Given the description of an element on the screen output the (x, y) to click on. 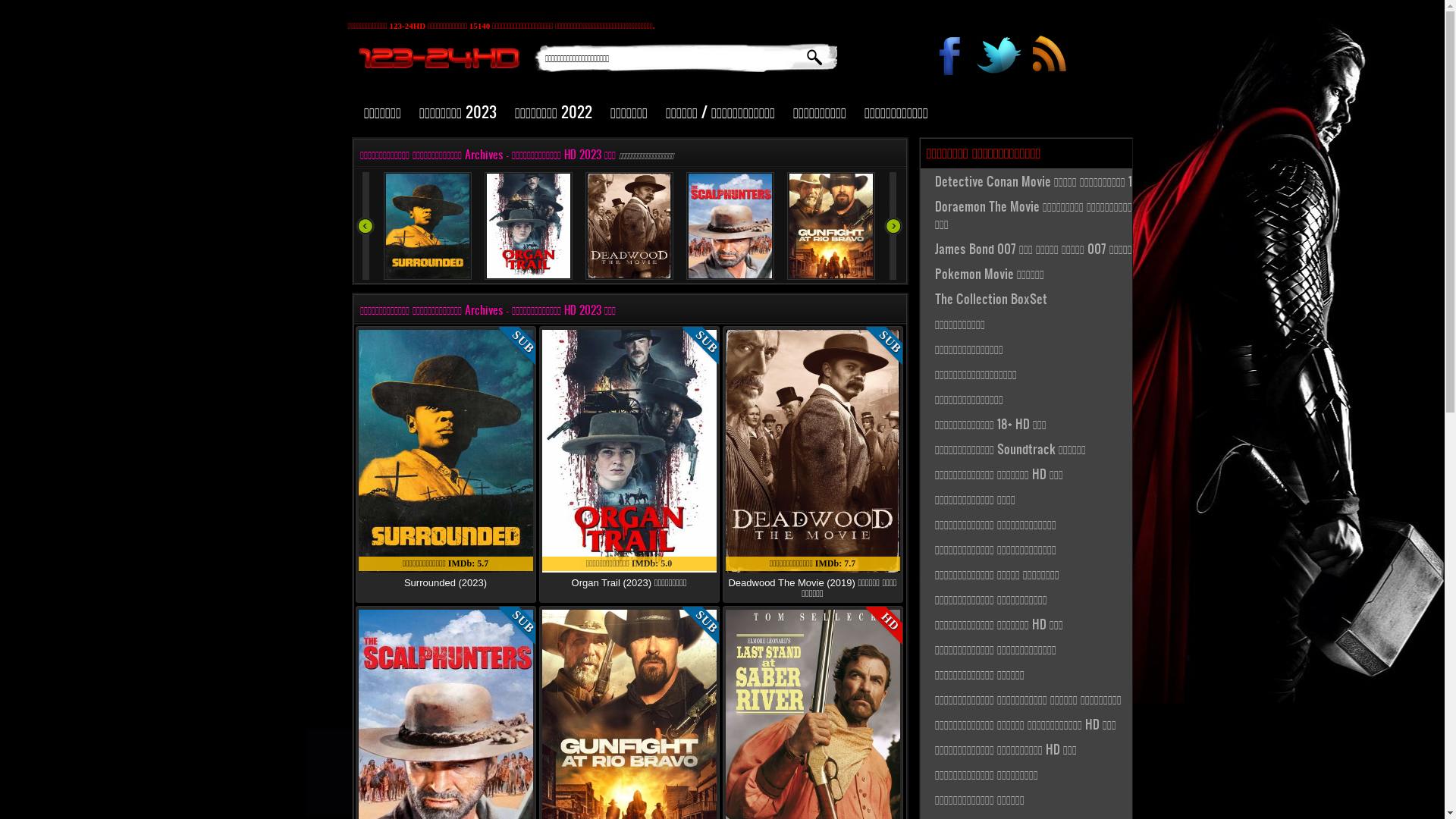
# Element type: text (1047, 58)
2 geri Element type: hover (364, 225)
# Element type: text (950, 58)
The Collection BoxSet Element type: text (1039, 297)
Surrounded (2023) Element type: text (445, 582)
2 ileri Element type: hover (892, 225)
# Element type: text (999, 58)
